Given the description of an element on the screen output the (x, y) to click on. 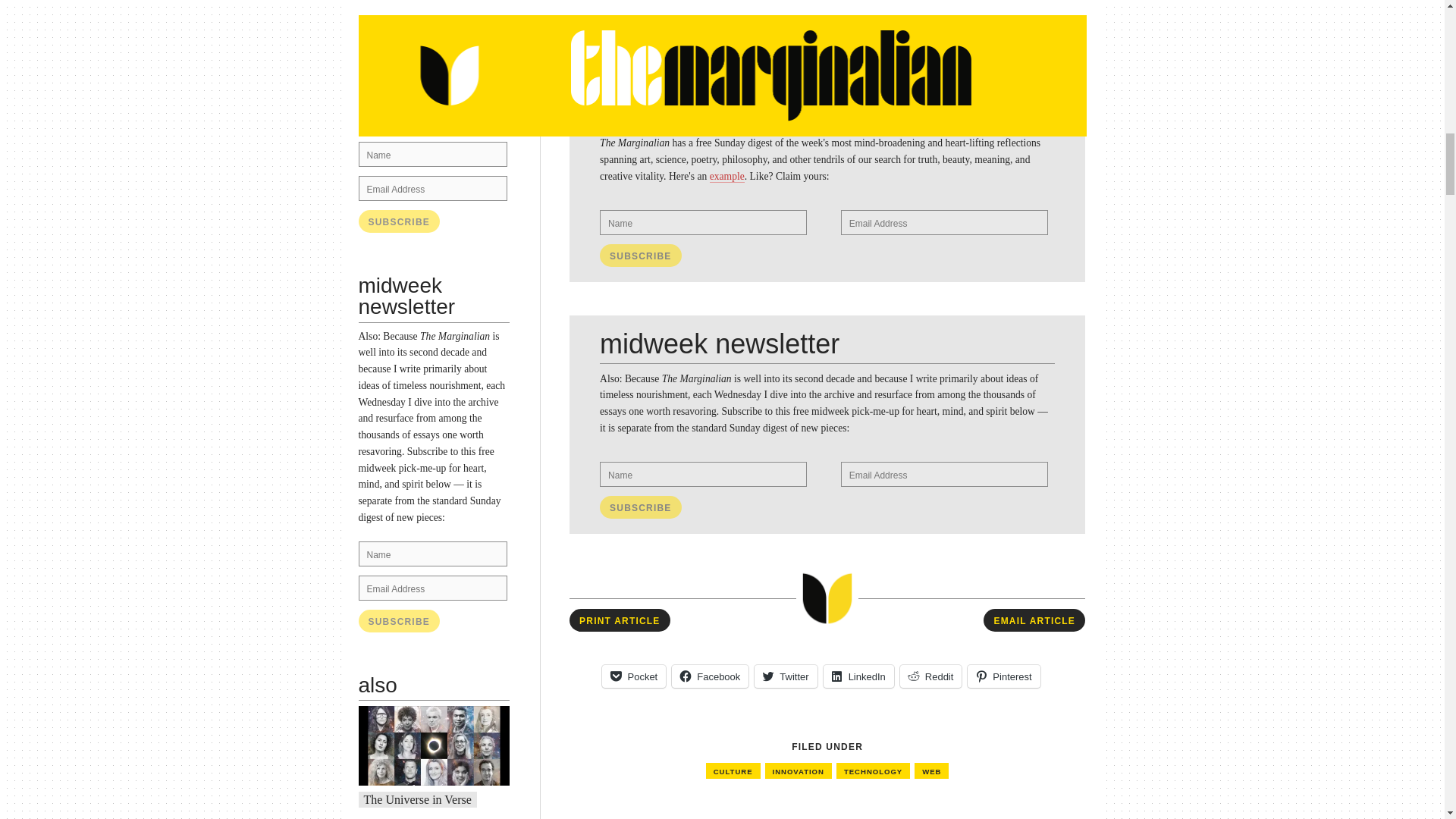
Subscribe (398, 220)
Subscribe (640, 507)
Click to share on LinkedIn (858, 676)
Subscribe (398, 620)
Click to share on Pocket (633, 676)
Click to share on Reddit (930, 676)
Subscribe (398, 220)
Click to share on Twitter (785, 676)
Click to share on Facebook (709, 676)
The Universe in Verse (417, 799)
